Given the description of an element on the screen output the (x, y) to click on. 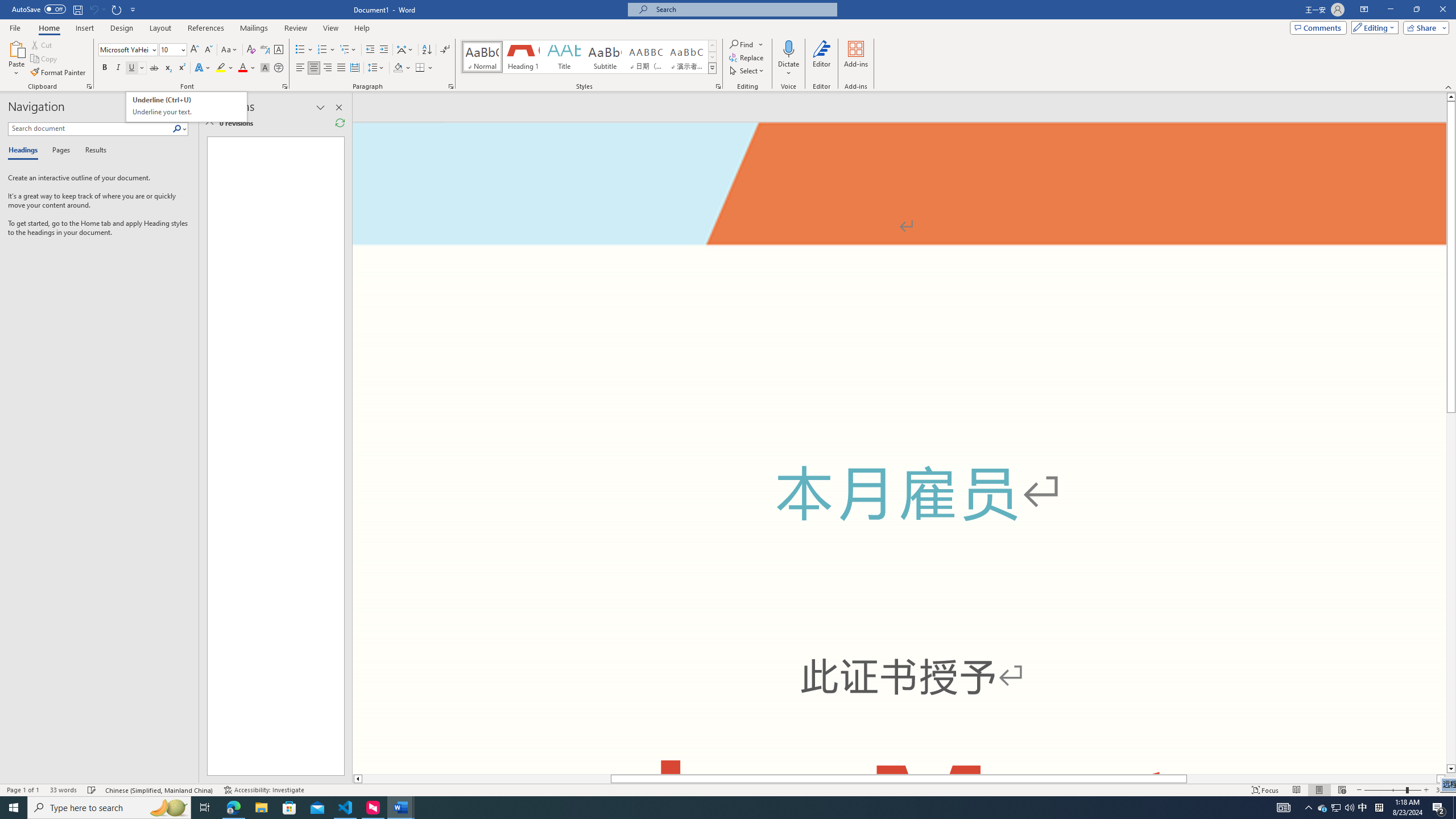
Refresh Reviewing Pane (339, 122)
Line down (1450, 768)
Page right (1311, 778)
